Given the description of an element on the screen output the (x, y) to click on. 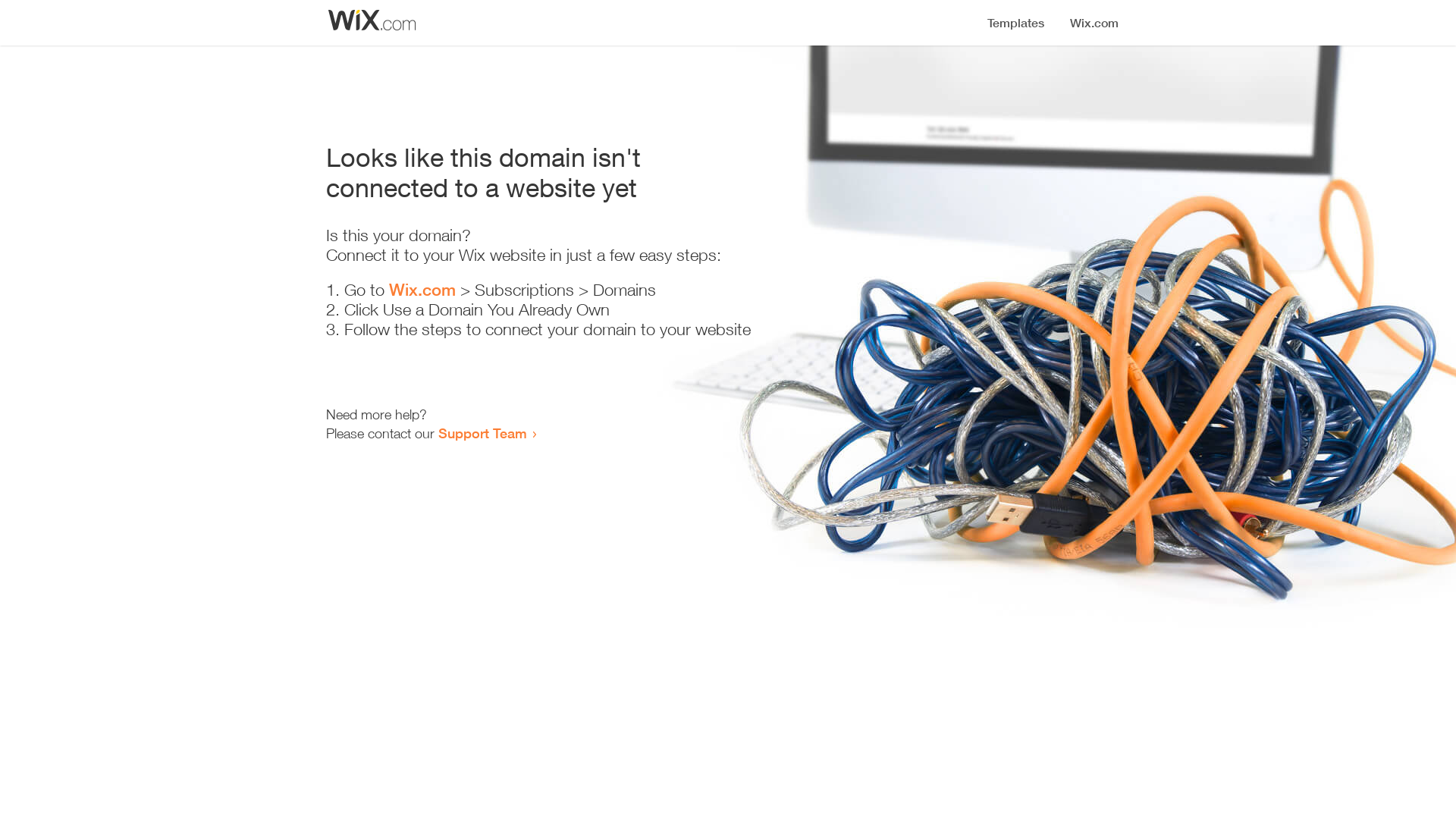
Support Team Element type: text (482, 432)
Wix.com Element type: text (422, 289)
